Given the description of an element on the screen output the (x, y) to click on. 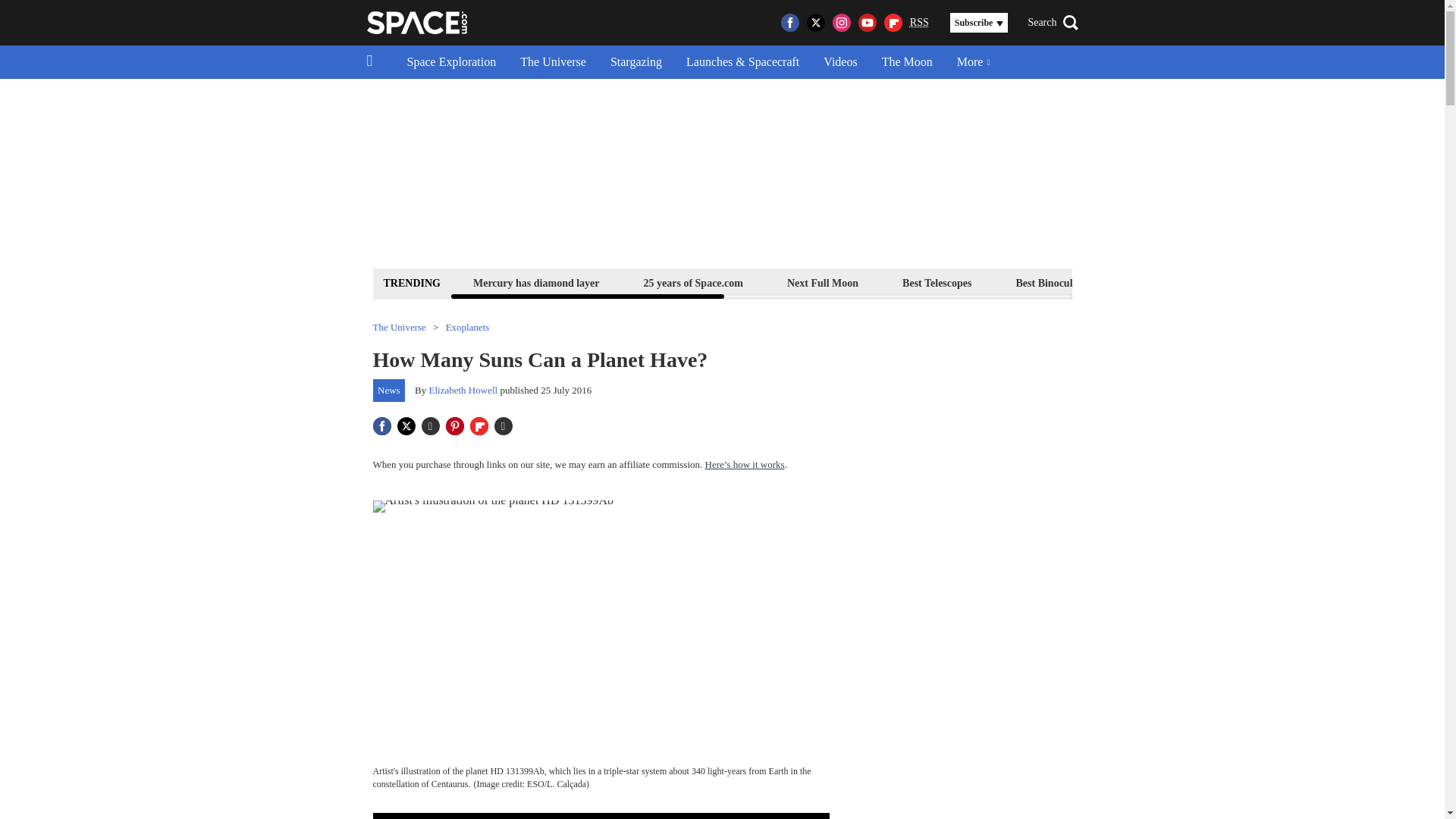
Stargazing (636, 61)
Videos (839, 61)
Best Star Projectors (1176, 282)
Next Full Moon (822, 282)
Mercury has diamond layer (536, 282)
Best Telescopes (936, 282)
Really Simple Syndication (919, 21)
The Universe (553, 61)
The Moon (906, 61)
Space Calendar (1301, 282)
RSS (919, 22)
25 years of Space.com (693, 282)
Best Binoculars (1051, 282)
Space Exploration (451, 61)
